Given the description of an element on the screen output the (x, y) to click on. 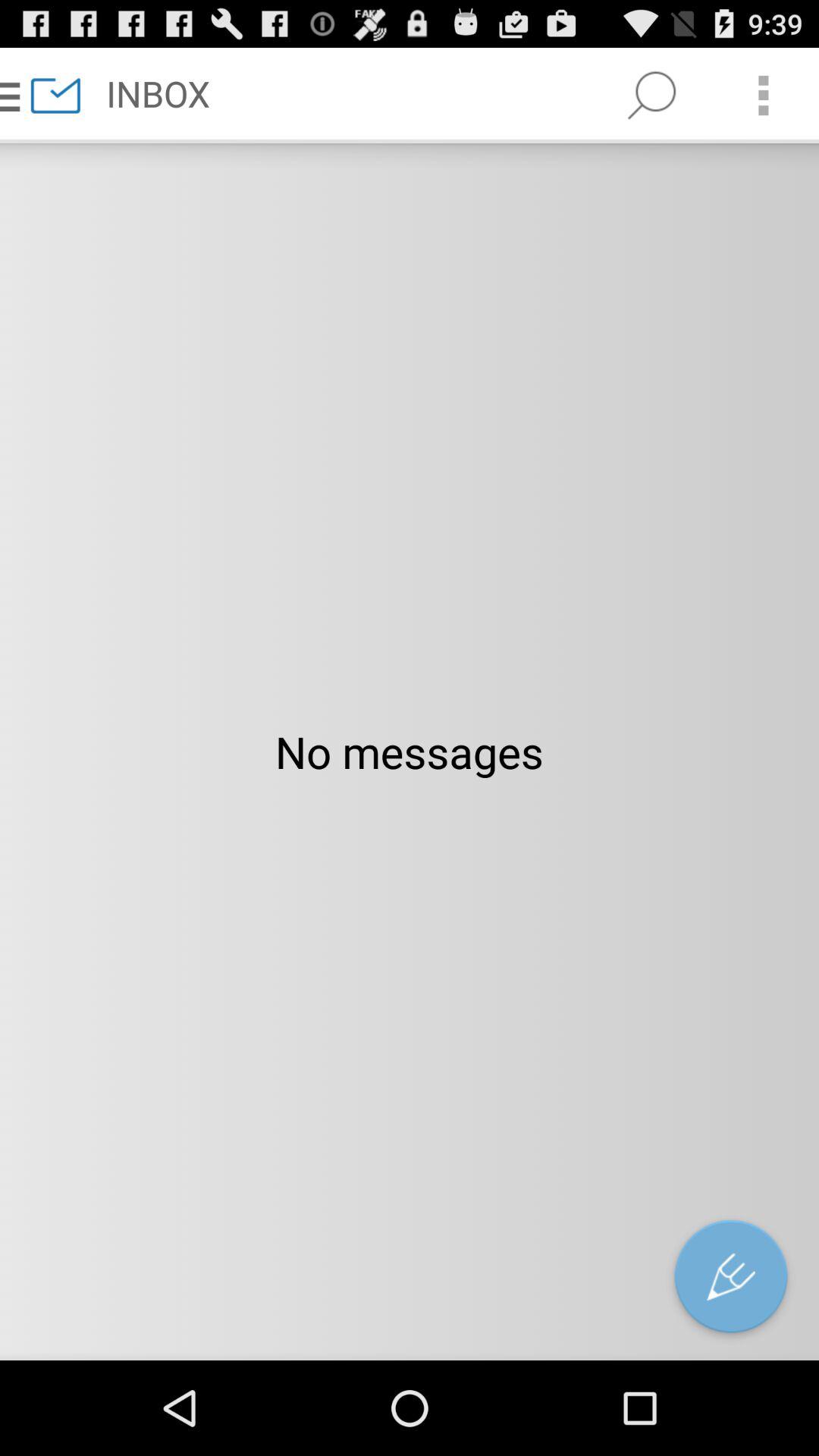
write (730, 1280)
